Given the description of an element on the screen output the (x, y) to click on. 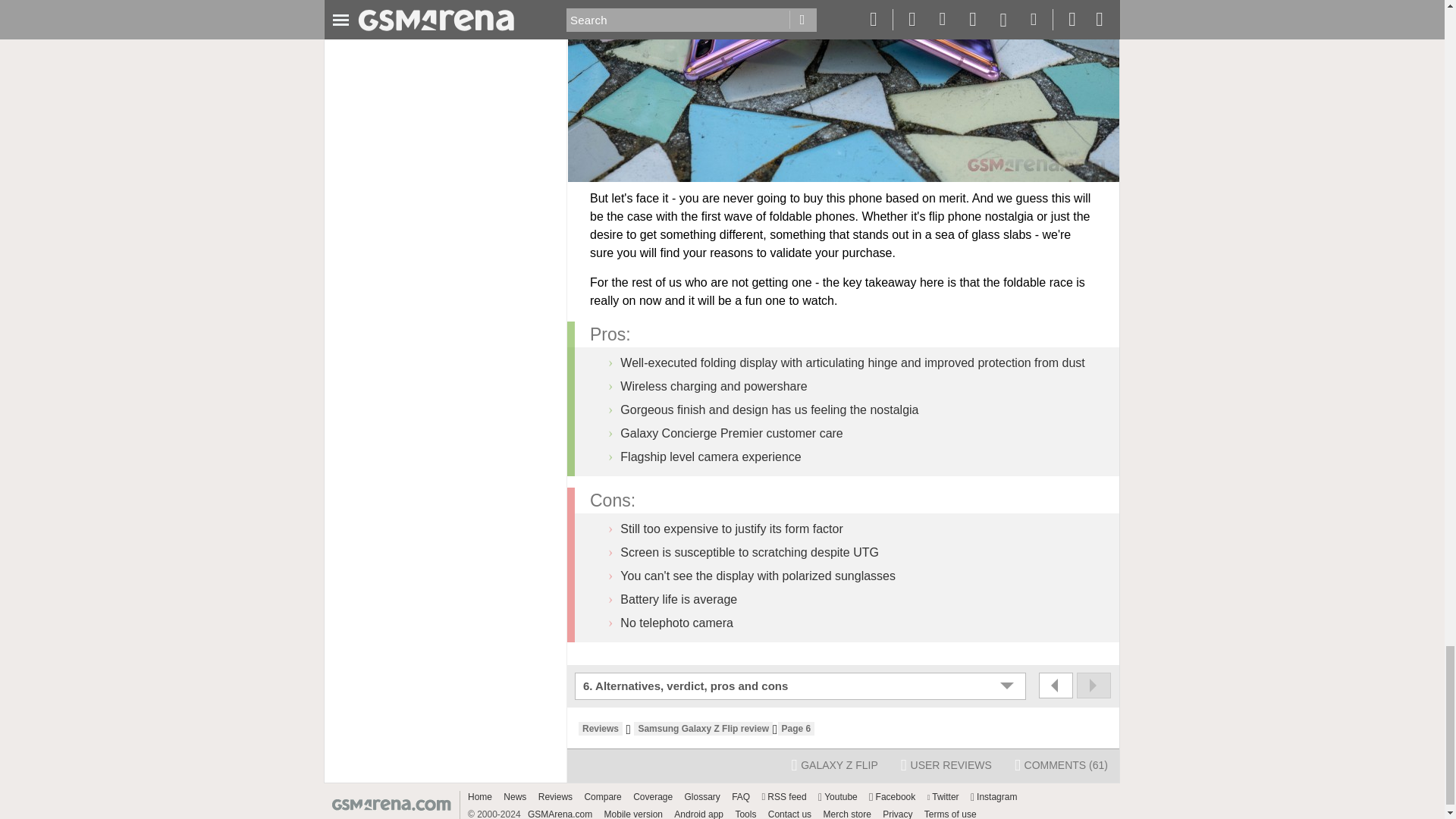
6. Alternatives, verdict, pros and cons  (802, 686)
Next page (1093, 685)
Previous page (1056, 685)
